Given the description of an element on the screen output the (x, y) to click on. 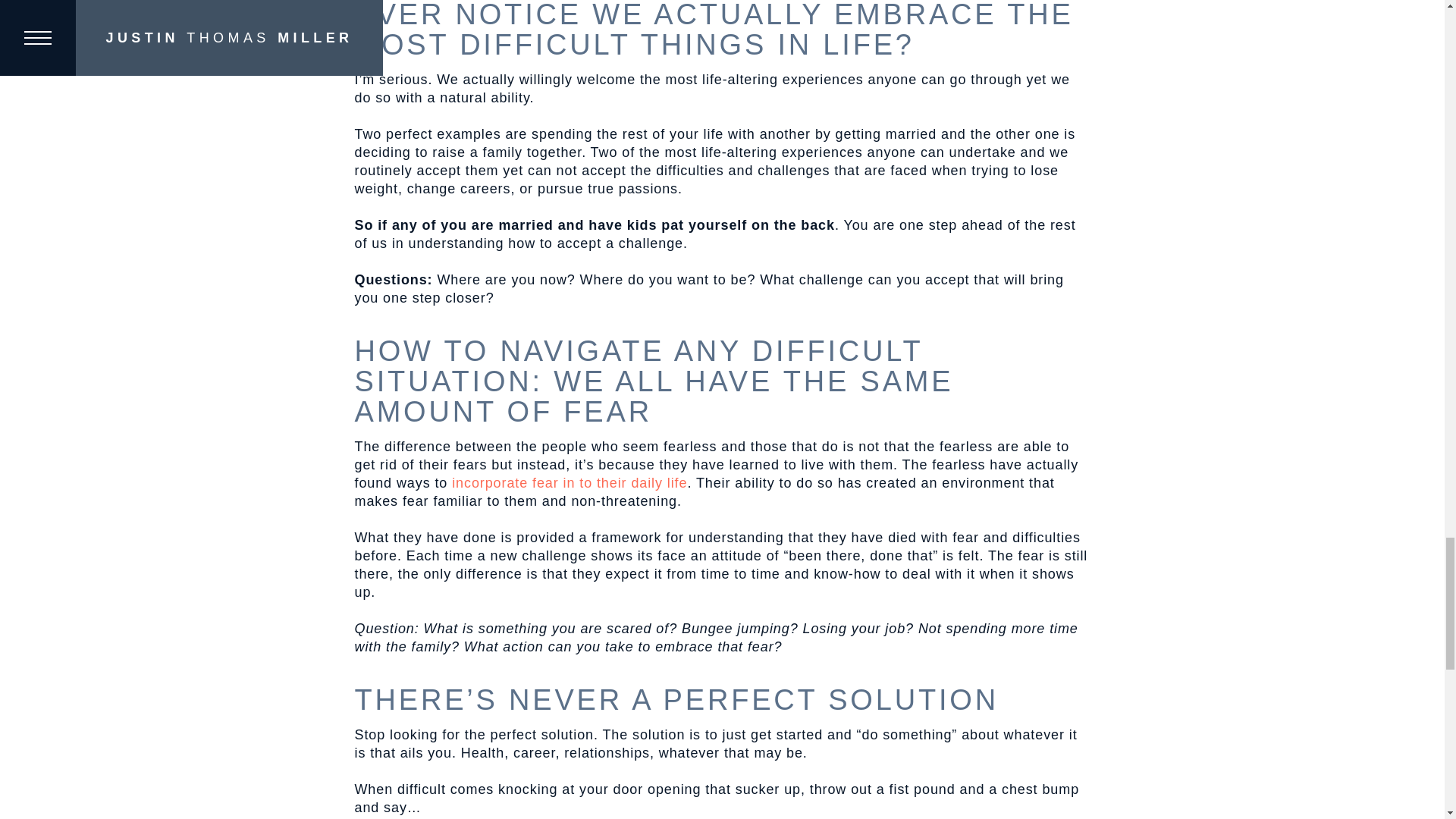
incorporate fear in to their daily life (566, 482)
